Given the description of an element on the screen output the (x, y) to click on. 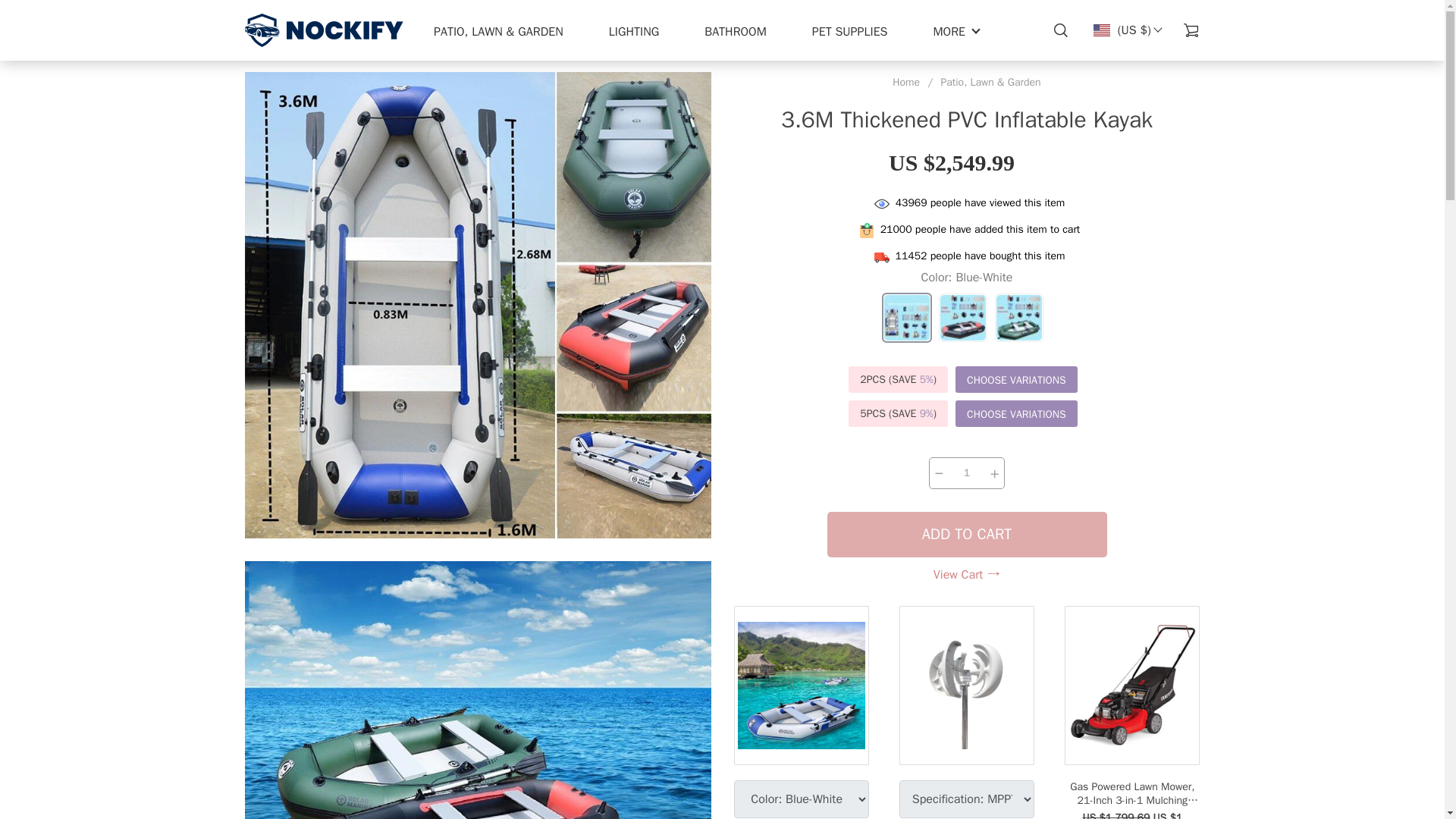
LIGHTING (633, 31)
992-915a9b.jpg (477, 690)
PET SUPPLIES (850, 31)
Black-Red (962, 317)
Color:Blue-White (966, 310)
BATHROOM (735, 31)
Blue-White (906, 317)
1 (966, 472)
Green (1018, 317)
